Given the description of an element on the screen output the (x, y) to click on. 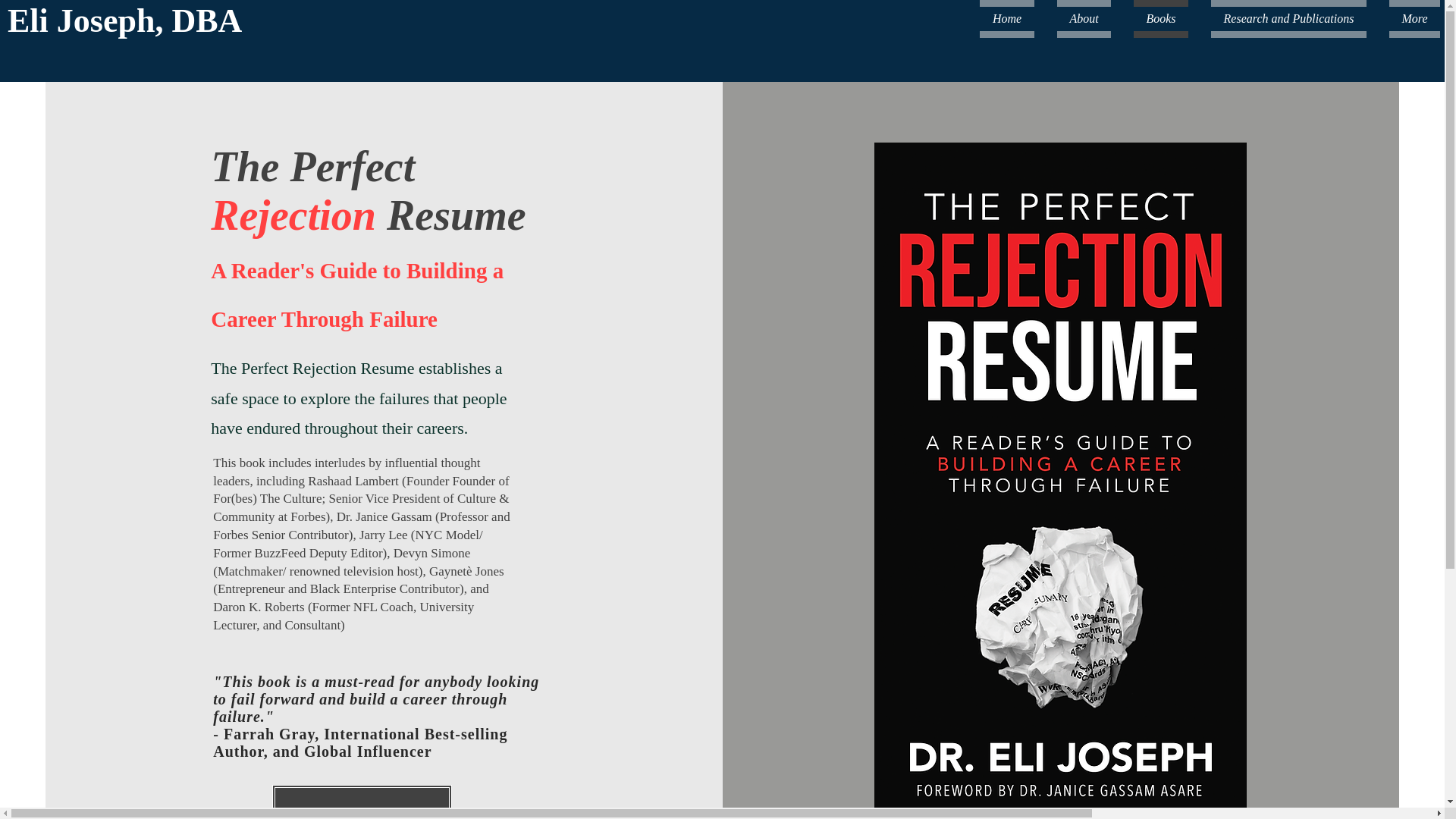
Books (1160, 18)
Home (1012, 18)
Eli Joseph, DBA (124, 20)
LEARN MORE (361, 801)
About (1083, 18)
Research and Publications (1288, 18)
